Given the description of an element on the screen output the (x, y) to click on. 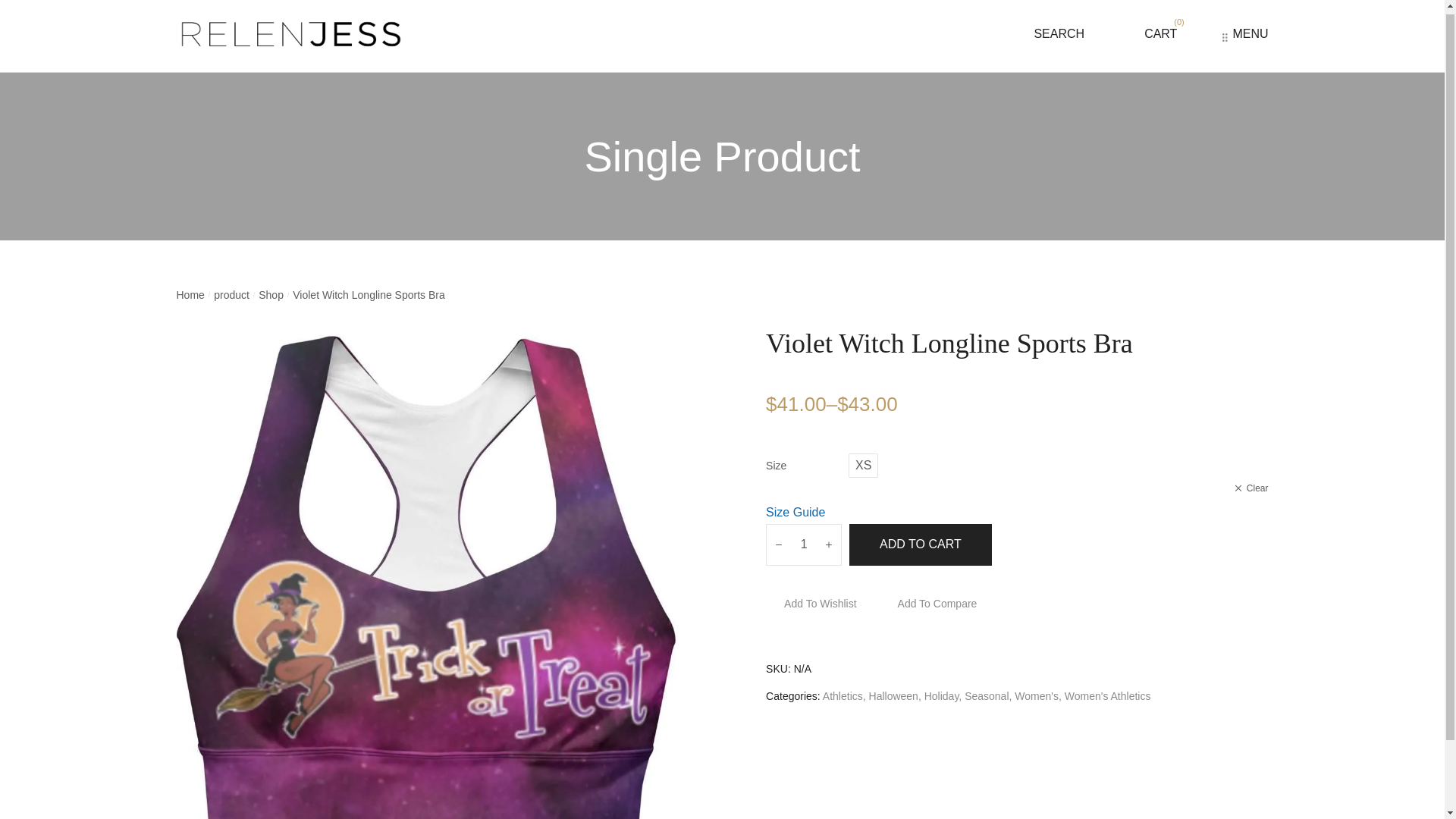
product (231, 294)
Home (189, 294)
Shop (271, 294)
Women's Athletics (1107, 695)
Halloween (893, 695)
Holiday (941, 695)
Size Guide (795, 512)
Shop (271, 294)
1 (803, 544)
Add To Compare (927, 603)
